Given the description of an element on the screen output the (x, y) to click on. 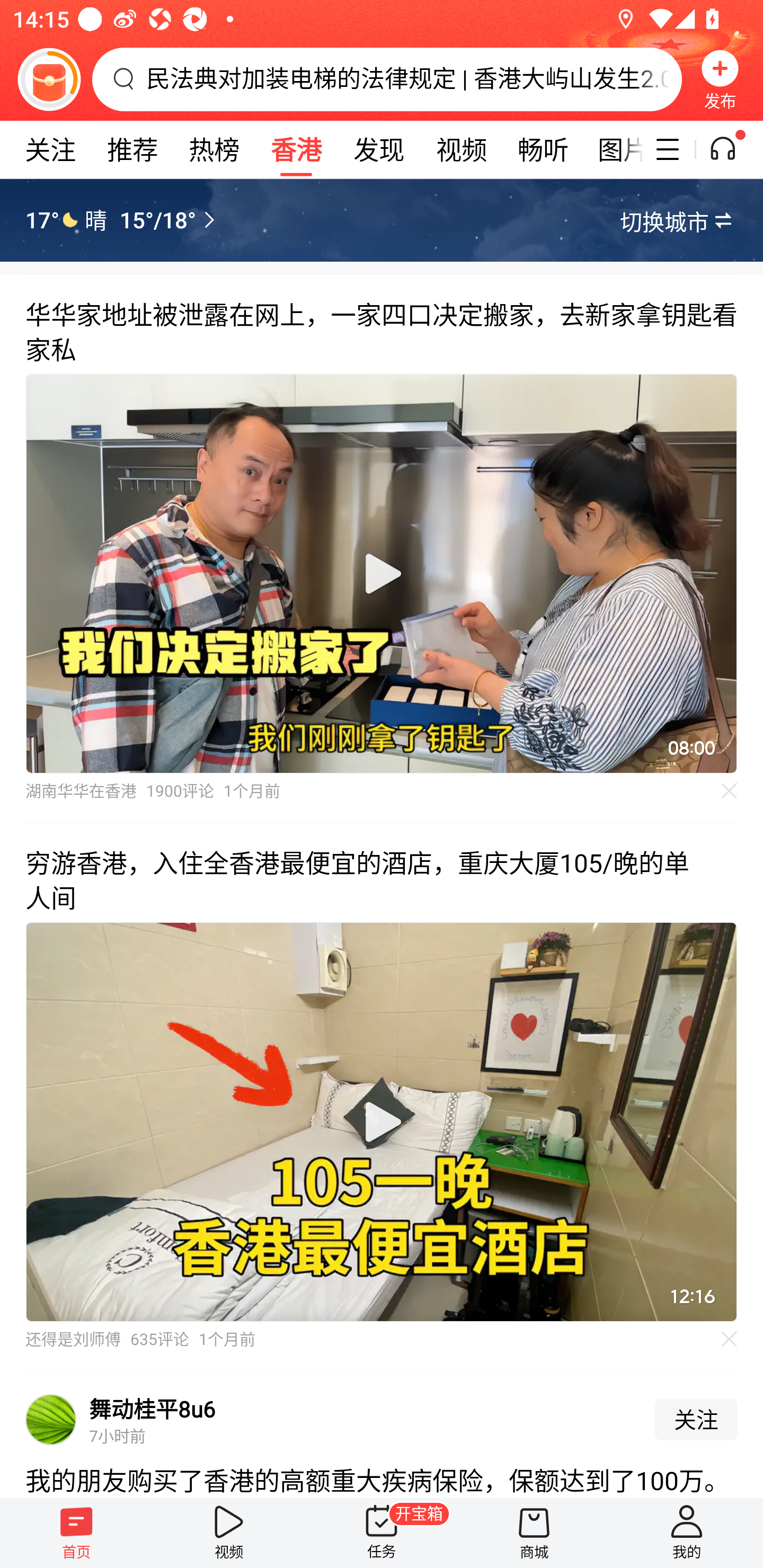
阅读赚金币 (48, 79)
发布 发布，按钮 (720, 78)
关注 (50, 149)
推荐 (132, 149)
热榜 (213, 149)
香港 (295, 149)
发现 (378, 149)
视频 (461, 149)
畅听 (542, 149)
图片 (613, 149)
听一听开关 (732, 149)
播放视频 视频播放器，双击屏幕打开播放控制 (381, 573)
播放视频 (381, 573)
不感兴趣 (729, 790)
播放视频 视频播放器，双击屏幕打开播放控制 (381, 1121)
播放视频 (381, 1121)
不感兴趣 (729, 1338)
舞动桂平8u6 (152, 1408)
舞动桂平8u6头像 (50, 1419)
关注 (695, 1419)
首页 (76, 1532)
视频 (228, 1532)
任务 开宝箱 (381, 1532)
商城 (533, 1532)
我的 (686, 1532)
